Given the description of an element on the screen output the (x, y) to click on. 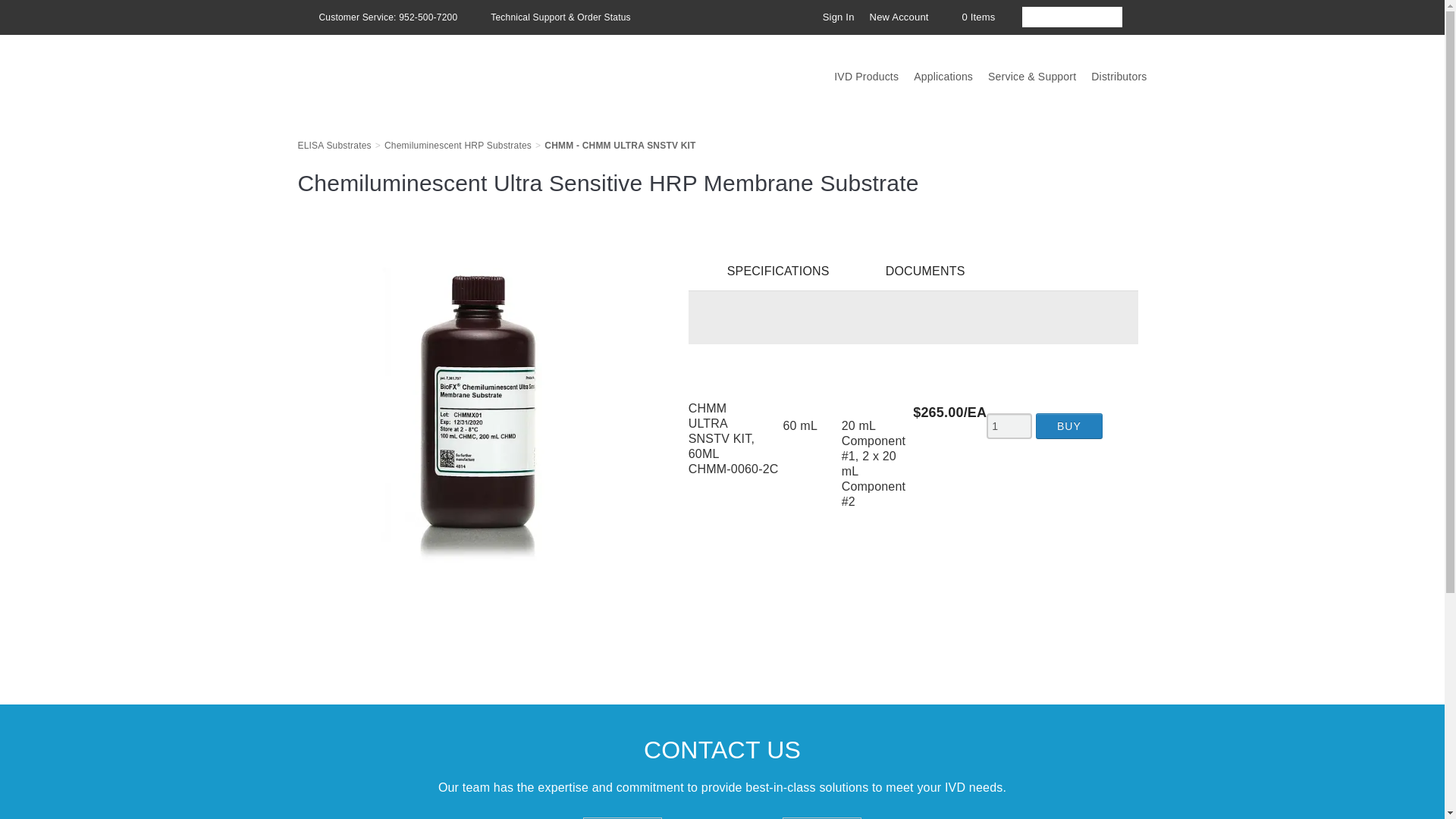
DOCUMENTS (917, 271)
Buy (1068, 425)
Distributors (1125, 76)
0 Items (969, 16)
IVD Products (874, 76)
1 (1009, 425)
Sign InNew Account (868, 16)
ELISA Substrates (334, 145)
Surmodics IVD (410, 67)
SPECIFICATIONS (768, 271)
Customer Service: 952-500-7200 (377, 17)
Applications (951, 76)
CHMM - CHMM ULTRA SNSTV KIT (619, 145)
Chemiluminescent HRP Substrates (457, 145)
